Given the description of an element on the screen output the (x, y) to click on. 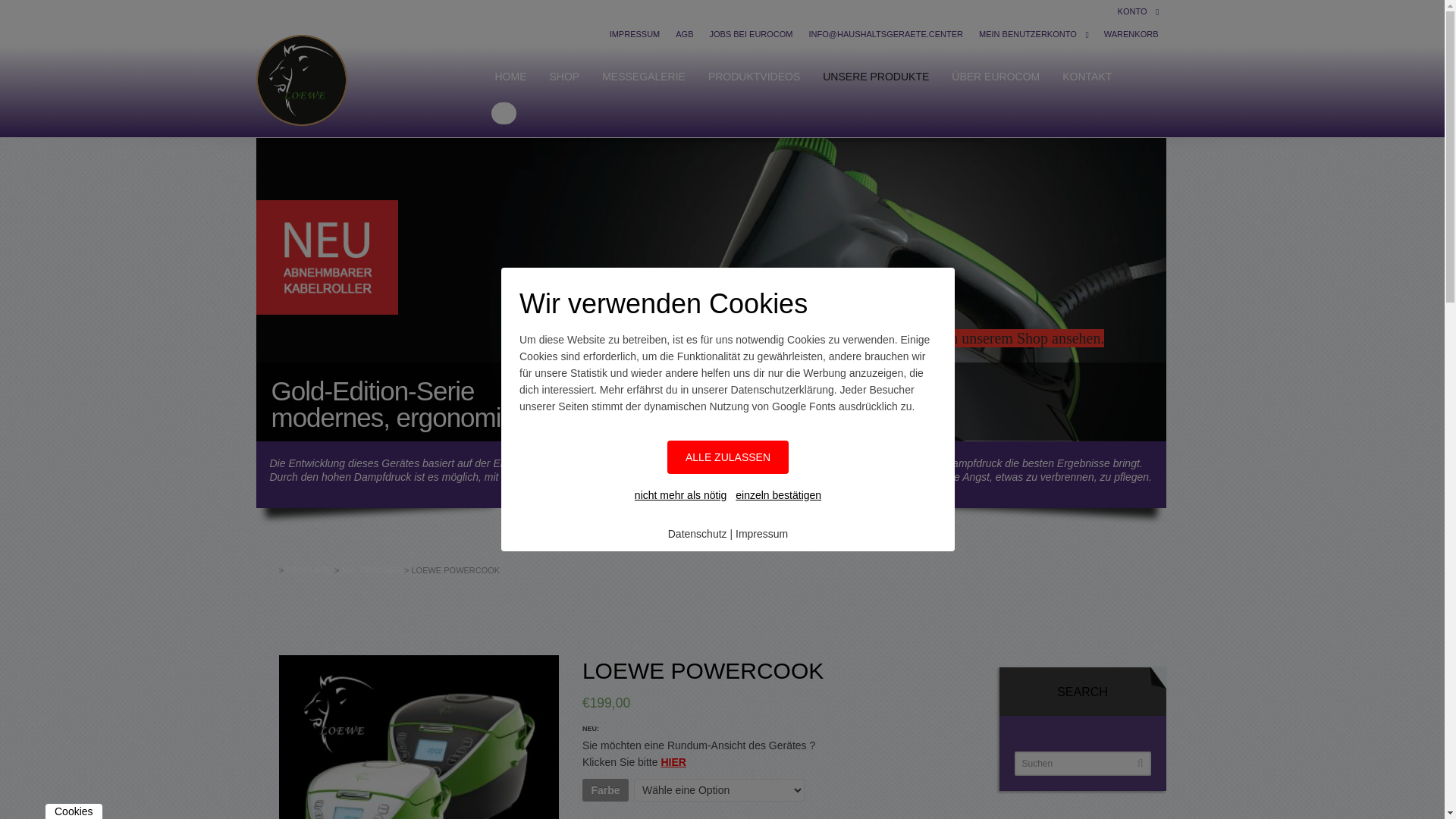
HIER Element type: text (672, 762)
HOME Element type: text (510, 76)
MEIN BENUTZERKONTO Element type: text (1027, 33)
MULTIKOCHER Element type: text (371, 569)
Datenschutz Element type: text (697, 533)
AGB Element type: text (684, 33)
SHOP Element type: text (564, 76)
PRODUKTE Element type: text (308, 569)
WARENKORB Element type: text (1131, 33)
INFO@HAUSHALTSGERAETE.CENTER Element type: text (886, 33)
KONTO Element type: text (1132, 11)
ALLE ZULASSEN Element type: text (727, 456)
JOBS BEI EUROCOM Element type: text (750, 33)
PRODUKTVIDEOS Element type: text (754, 76)
IMPRESSUM Element type: text (635, 33)
KONTAKT Element type: text (1086, 76)
MESSEGALERIE Element type: text (643, 76)
Diesen Artikel in unserem Shop ansehen. Element type: text (978, 337)
Impressum Element type: text (761, 533)
UNSERE PRODUKTE Element type: text (875, 76)
